Given the description of an element on the screen output the (x, y) to click on. 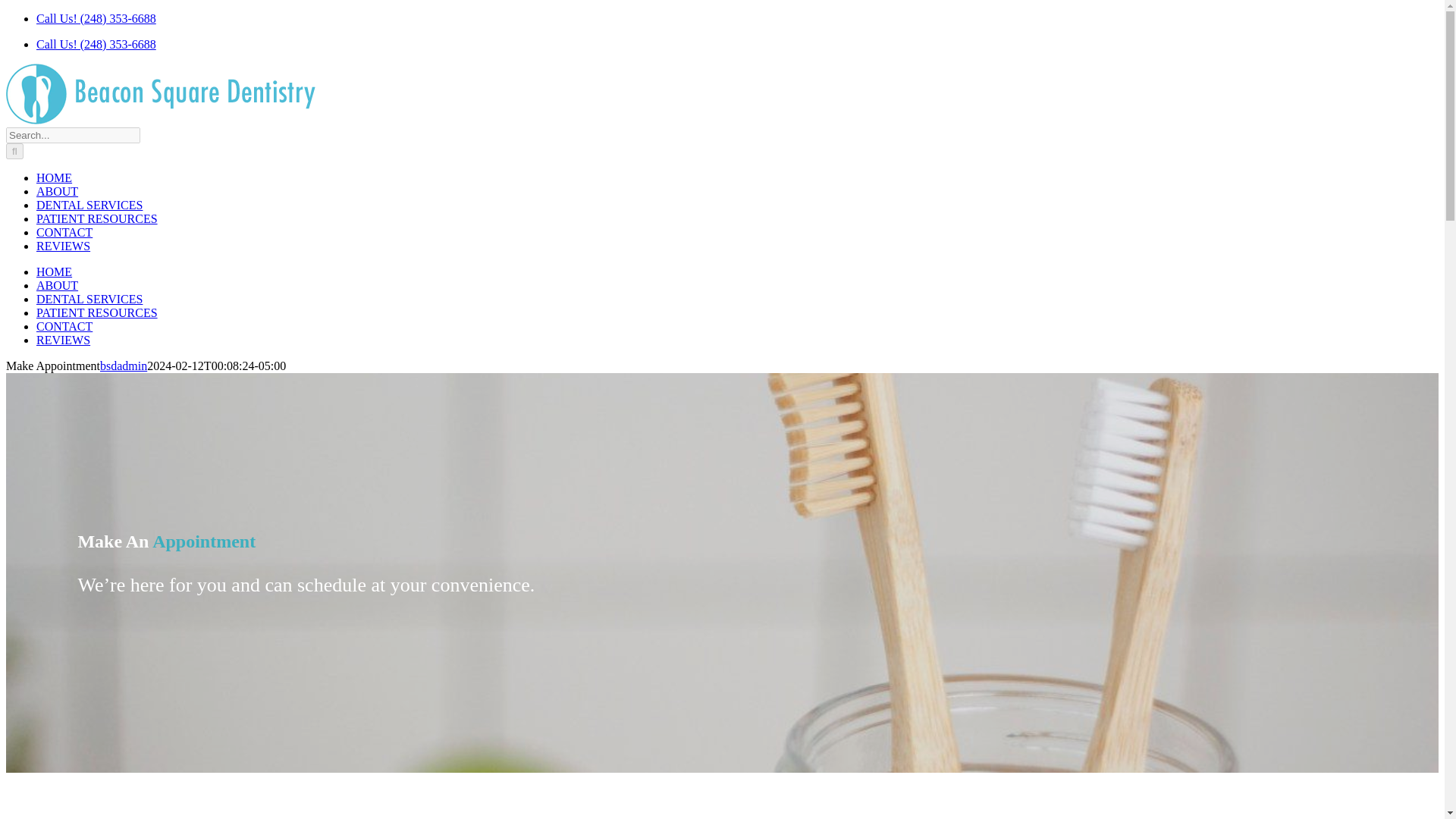
CONTACT (64, 326)
DENTAL SERVICES (89, 298)
ABOUT (57, 191)
Posts by bsdadmin (123, 365)
PATIENT RESOURCES (96, 312)
bsdadmin (123, 365)
ABOUT (57, 285)
HOME (53, 271)
REVIEWS (63, 245)
DENTAL SERVICES (89, 205)
PATIENT RESOURCES (96, 218)
HOME (53, 177)
REVIEWS (63, 339)
CONTACT (64, 232)
